Given the description of an element on the screen output the (x, y) to click on. 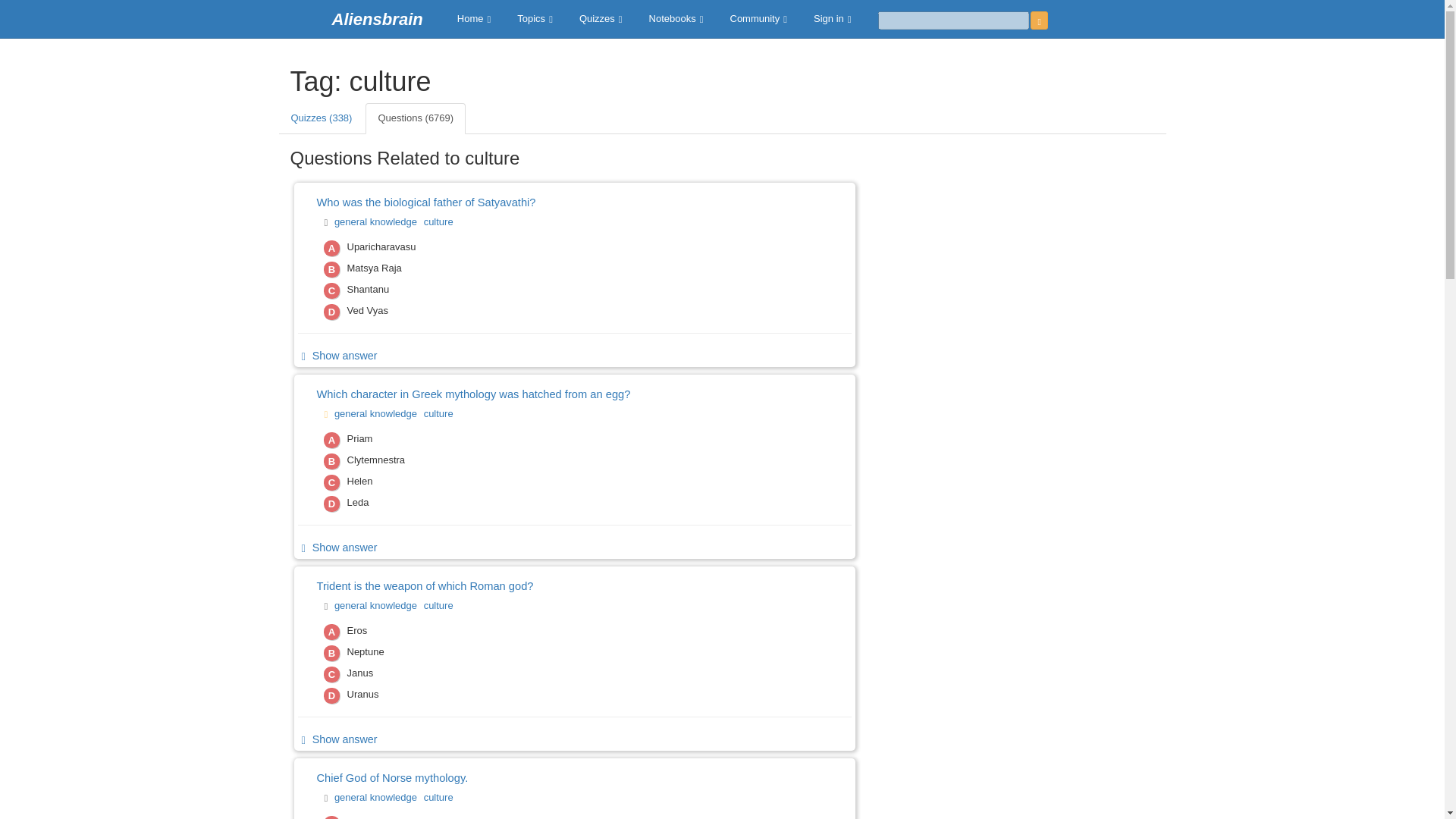
Show answer (337, 355)
Show answer (337, 547)
Who was the biological father of Satyavathi? (550, 202)
culture (440, 221)
Trident is the weapon of which Roman god? (550, 586)
Notebooks (678, 18)
Show answer (337, 739)
Home (475, 18)
Topics (536, 18)
culture (440, 413)
Advertisement (1017, 281)
general knowledge (377, 605)
Chief God of Norse mythology. (550, 778)
general knowledge (377, 796)
general knowledge (377, 221)
